Given the description of an element on the screen output the (x, y) to click on. 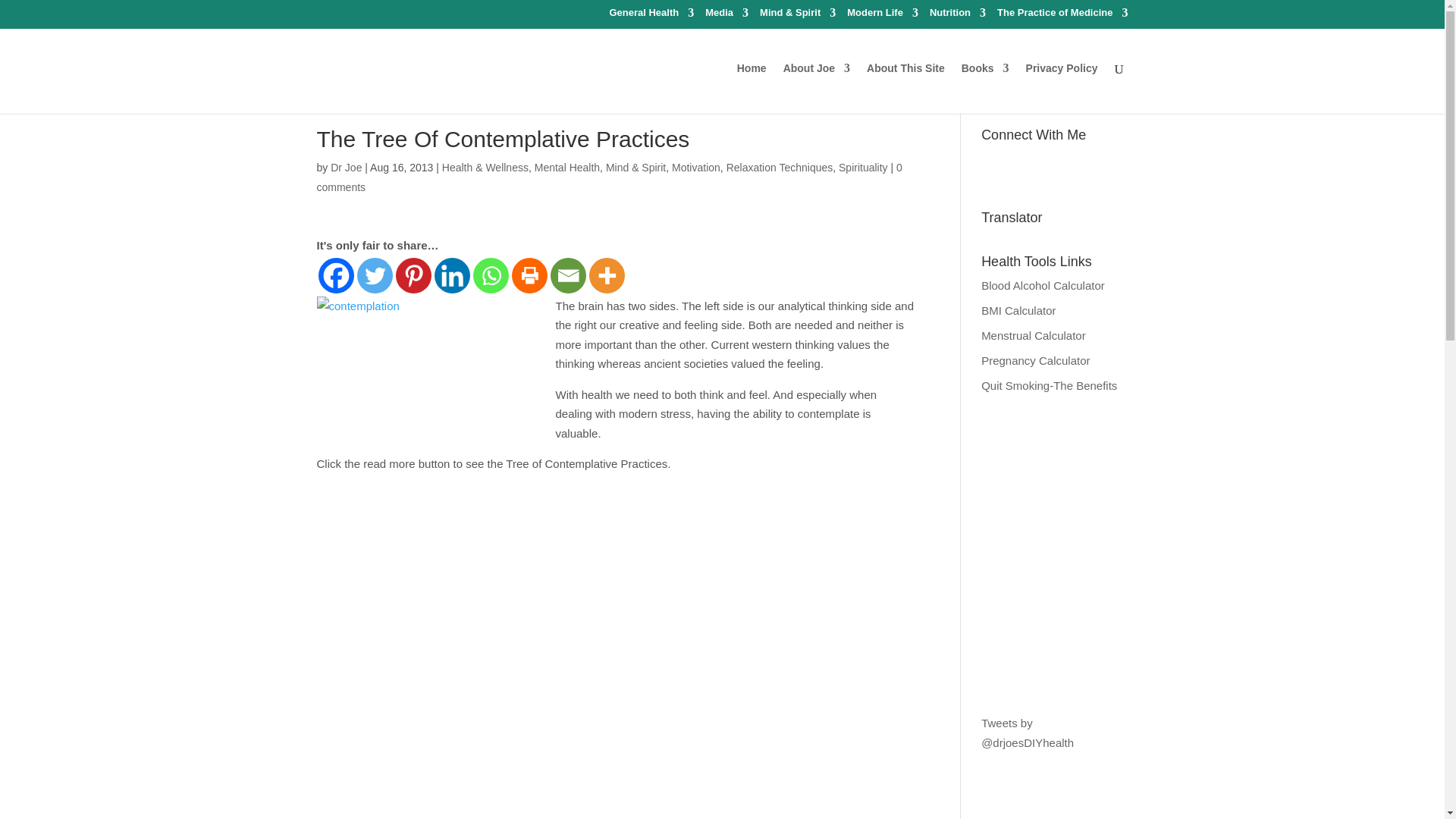
Posts by Dr Joe (345, 167)
Twitter (373, 275)
Media (726, 16)
More (606, 275)
Whatsapp (490, 275)
Print (529, 275)
Linkedin (450, 275)
Email (568, 275)
Pinterest (413, 275)
Facebook (335, 275)
General Health (651, 16)
